Given the description of an element on the screen output the (x, y) to click on. 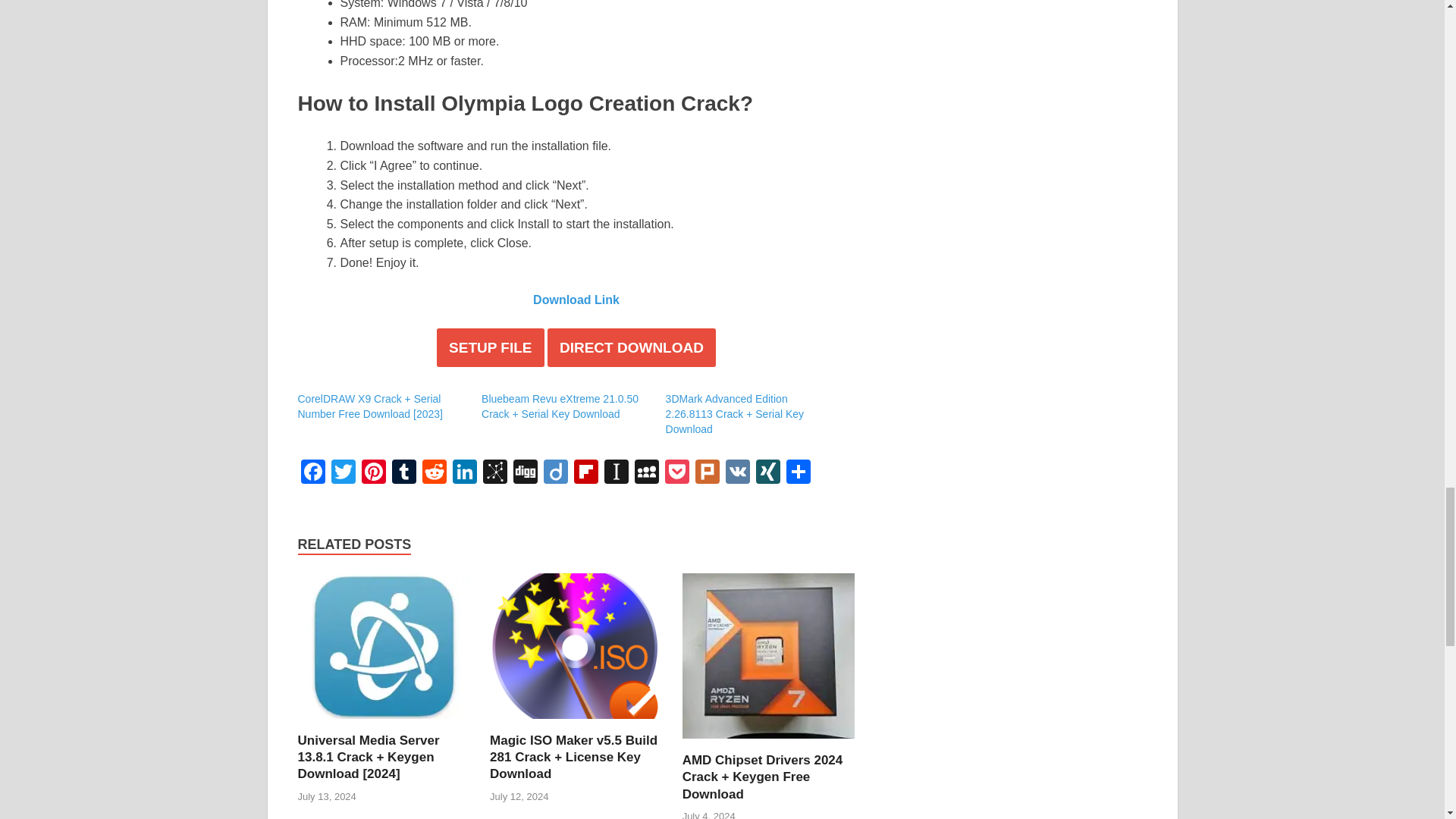
Digg (524, 473)
Flipboard (584, 473)
Twitter (342, 473)
Facebook (312, 473)
Reddit (433, 473)
BibSonomy (494, 473)
Pocket (676, 473)
MySpace (645, 473)
Pinterest (373, 473)
LinkedIn (463, 473)
Instapaper (614, 473)
Tumblr (403, 473)
Diigo (555, 473)
